Given the description of an element on the screen output the (x, y) to click on. 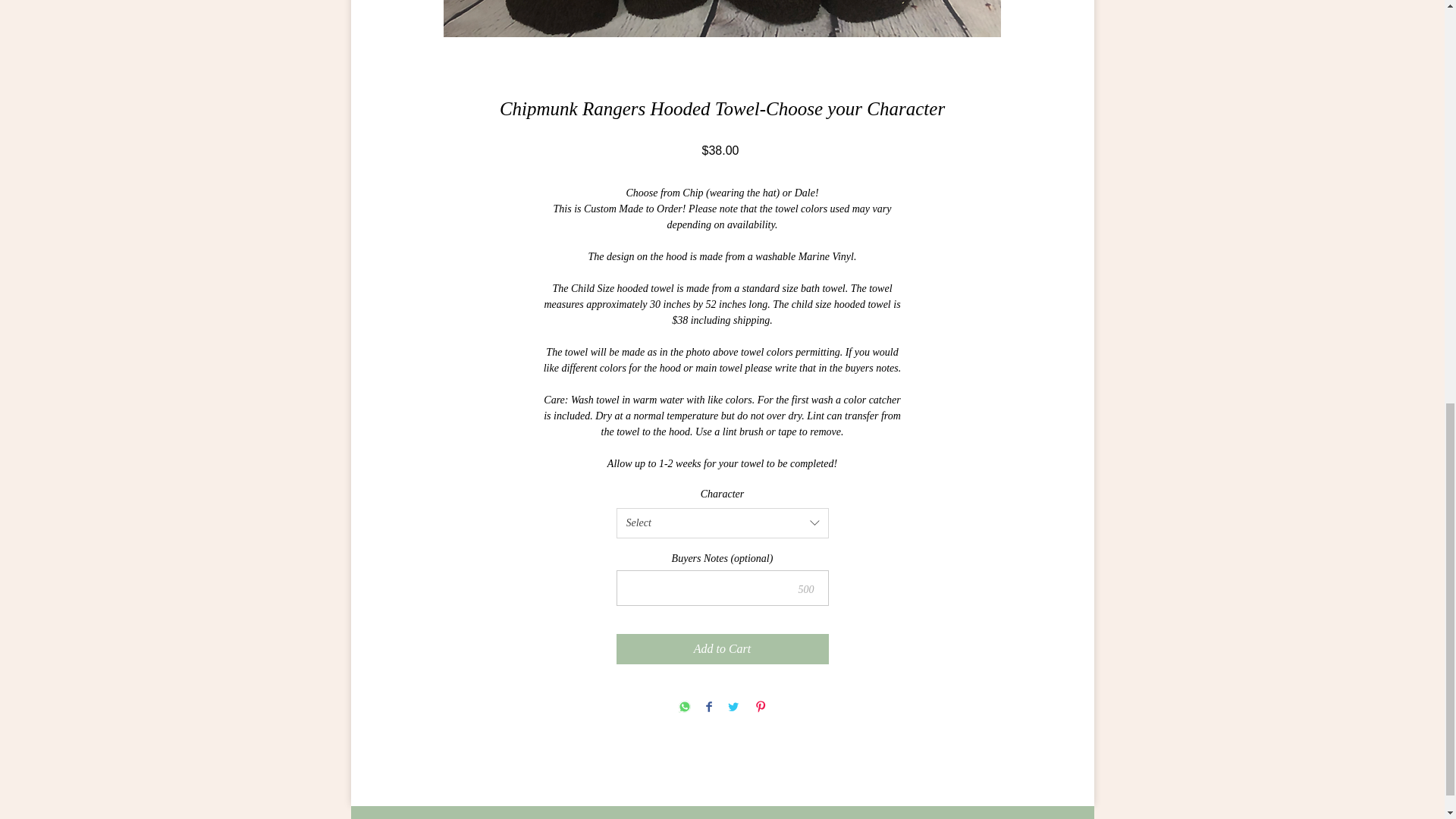
Add to Cart (721, 648)
Select (721, 522)
